Given the description of an element on the screen output the (x, y) to click on. 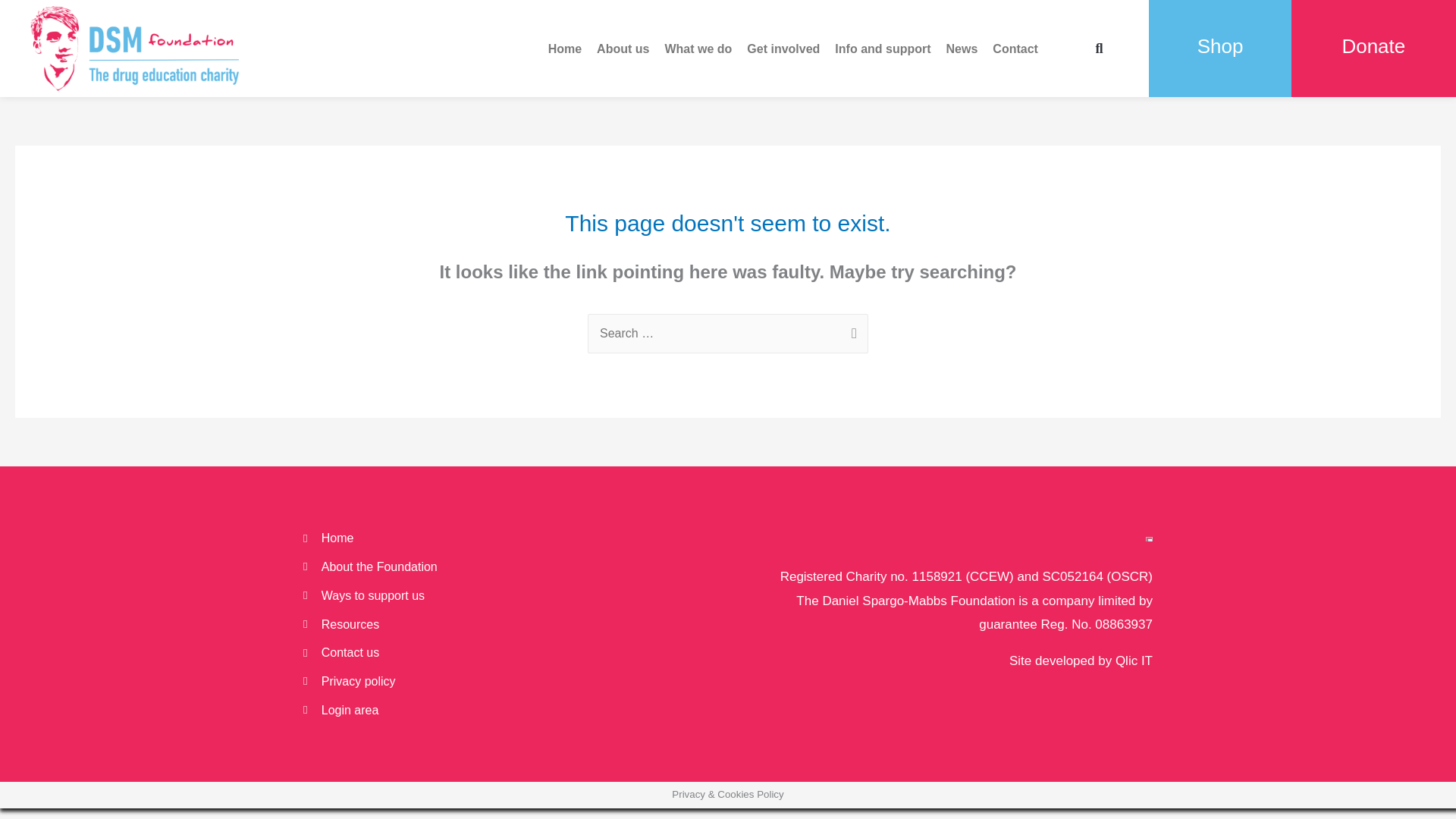
About us (622, 48)
Home (564, 48)
Get involved (783, 48)
Info and support (882, 48)
What we do (697, 48)
